Given the description of an element on the screen output the (x, y) to click on. 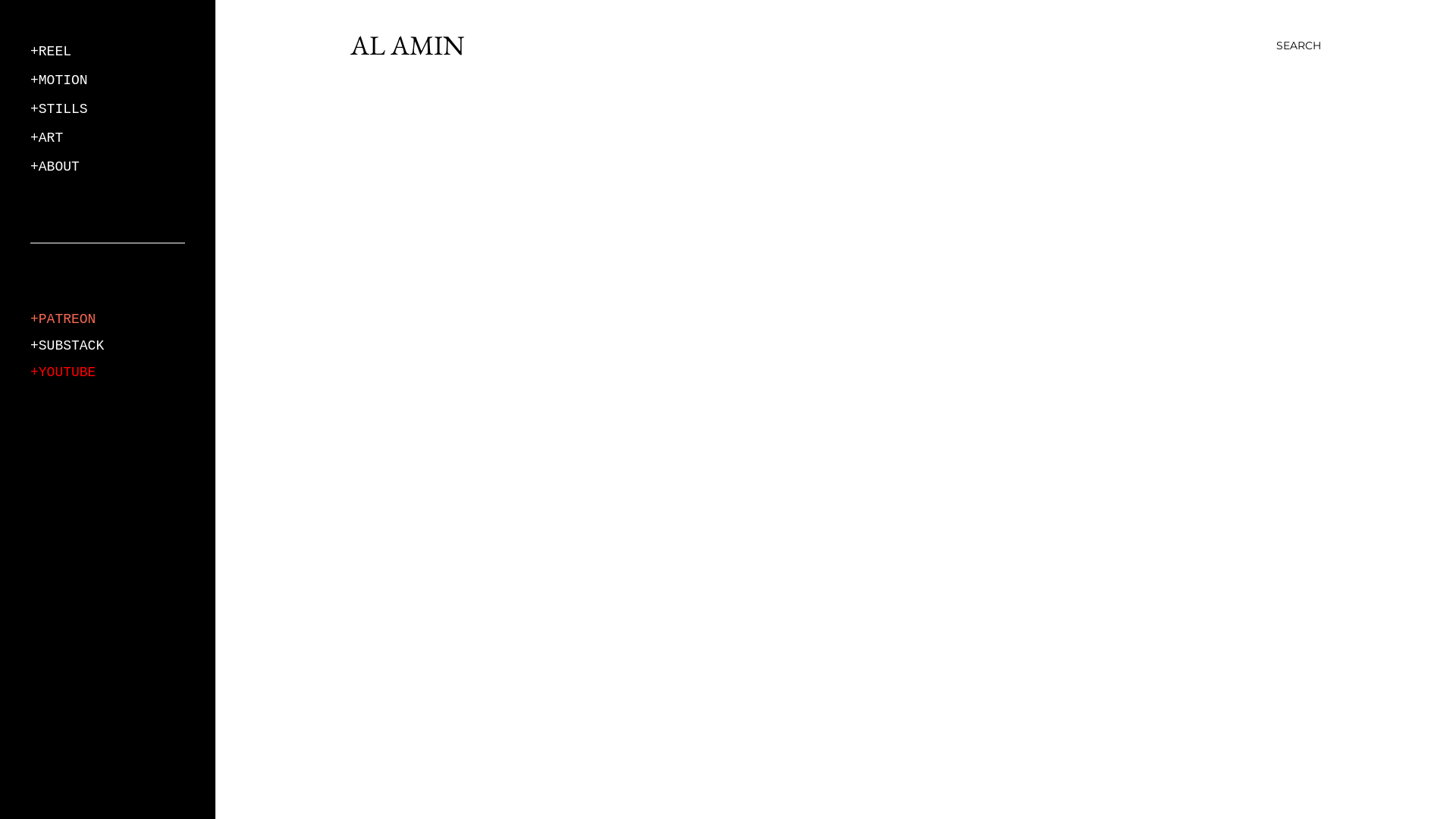
+YOUTUBE Element type: text (62, 371)
AL AMIN Element type: text (407, 44)
+ART Element type: text (46, 137)
+REEL Element type: text (50, 51)
+ABOUT Element type: text (54, 166)
+STILLS Element type: text (58, 108)
SEARCH Element type: text (1298, 45)
+MOTION Element type: text (58, 79)
+PATREON Element type: text (62, 318)
+SUBSTACK Element type: text (66, 345)
